Given the description of an element on the screen output the (x, y) to click on. 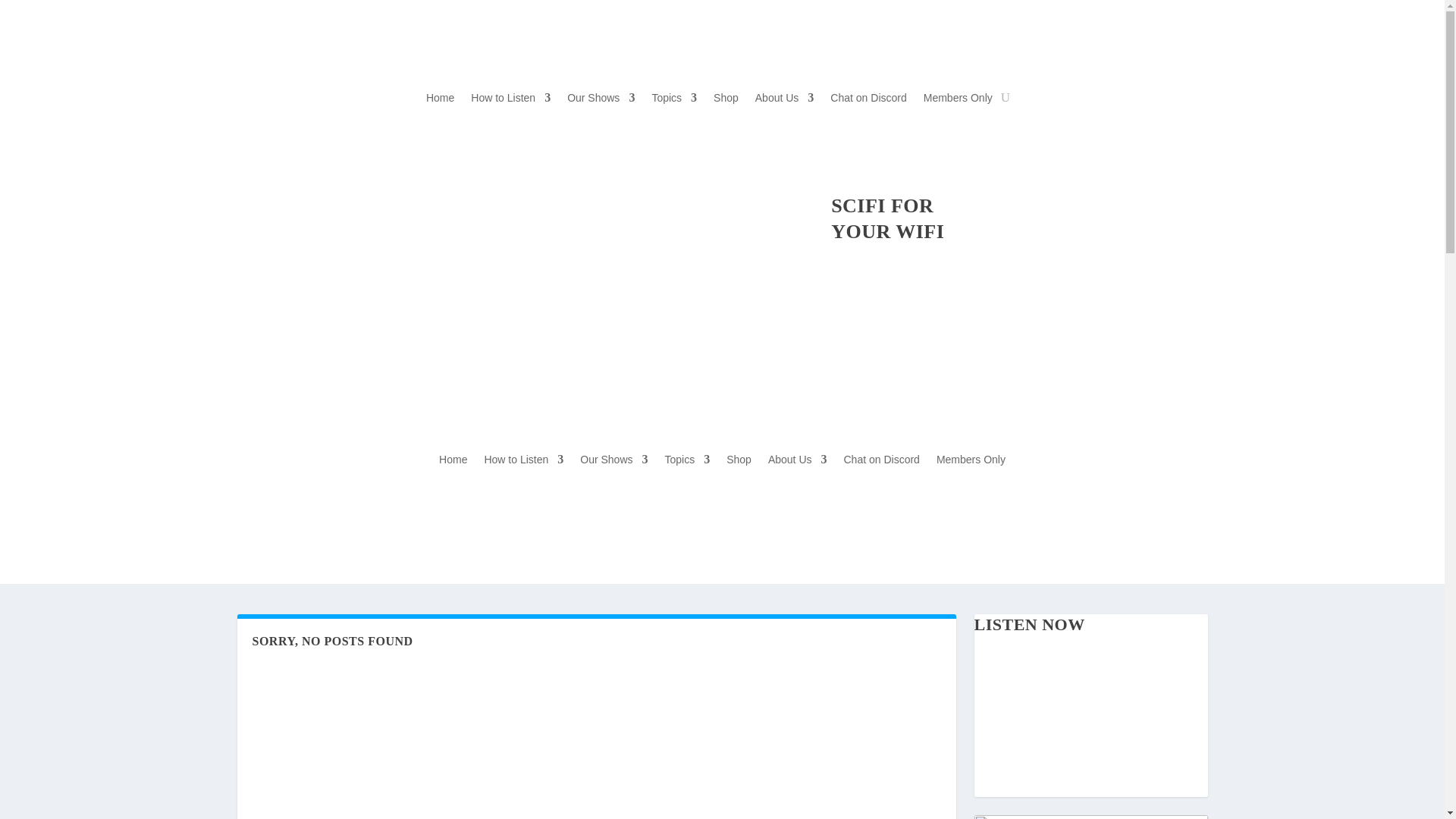
Follow on Patreon (324, 205)
Our Shows (600, 100)
How to Listen (510, 100)
Follow on Instagram (457, 205)
Follow on Pinterest (491, 205)
Follow on Twitch (524, 205)
Follow on Facebook (357, 205)
Follow on X (424, 205)
Topics (673, 100)
Follow on Youtube (390, 205)
